Given the description of an element on the screen output the (x, y) to click on. 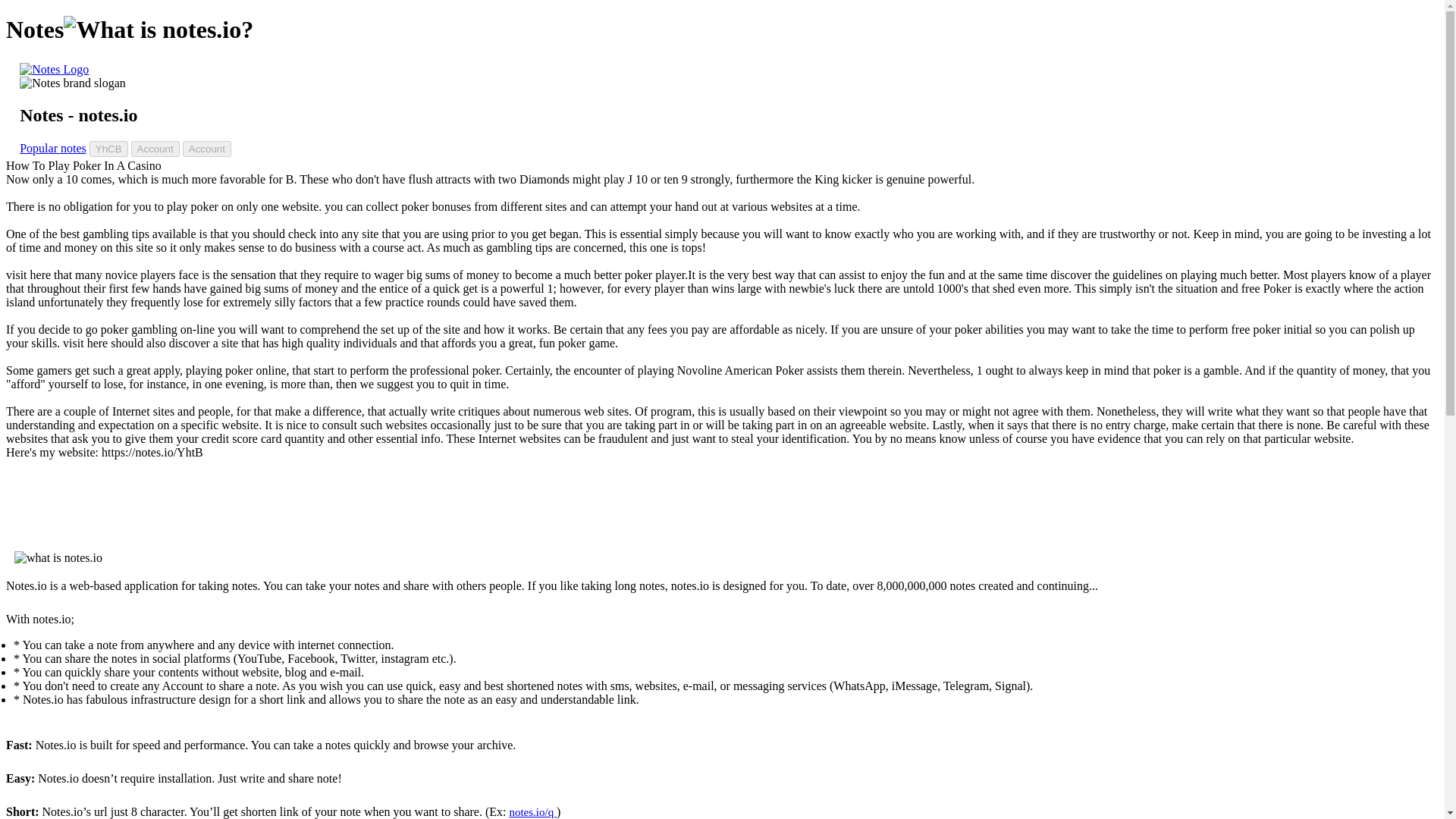
Popular notes (52, 147)
notes (54, 69)
Fast, easy and short (72, 83)
Account (155, 148)
Notes (54, 69)
YhCB (108, 148)
what is notes.io? (158, 29)
Account (207, 148)
